Given the description of an element on the screen output the (x, y) to click on. 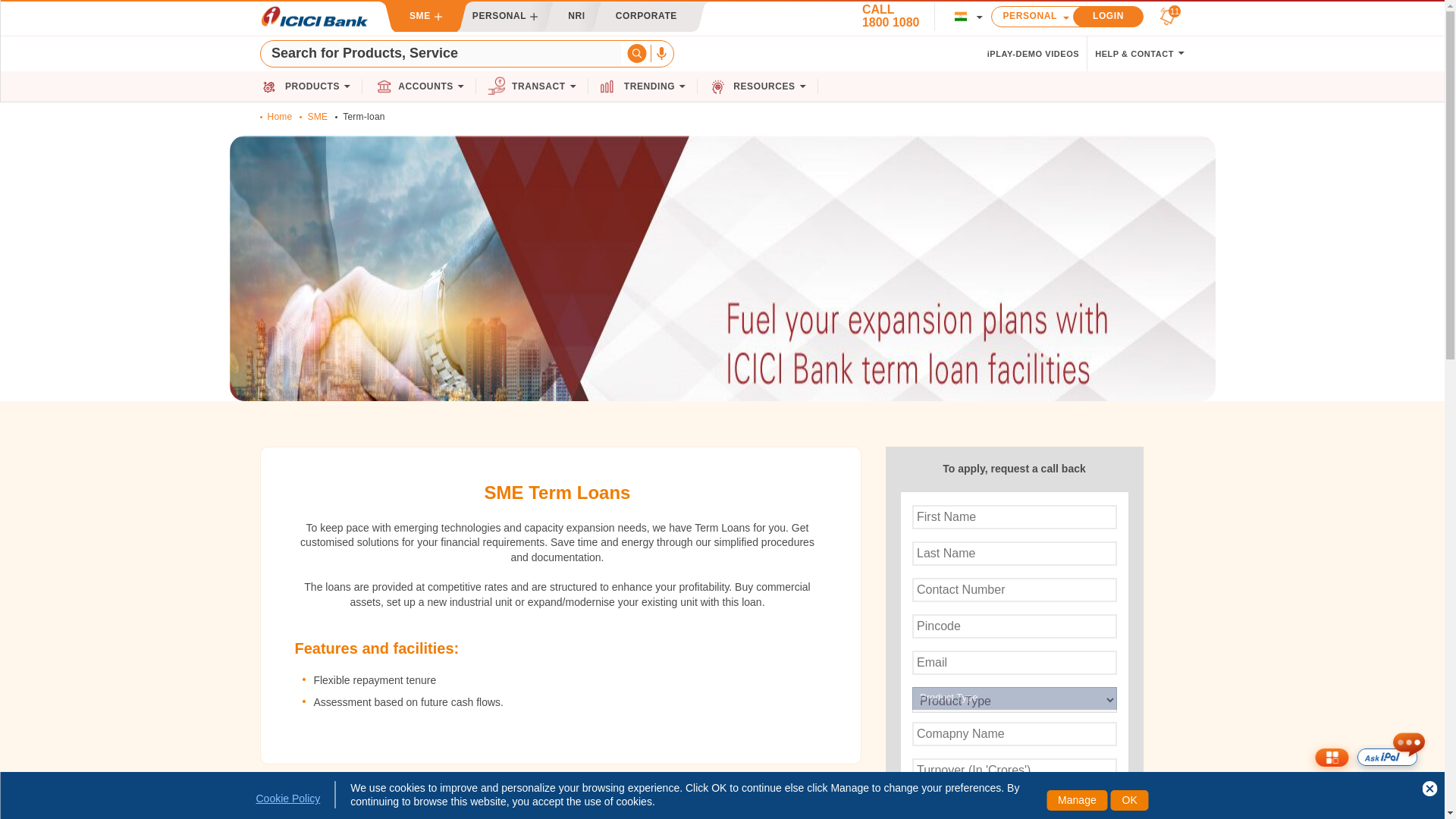
PERSONAL (505, 16)
SME (425, 16)
NRI (576, 16)
CORPORATE (646, 16)
PERSONAL (1039, 15)
LOGIN (1107, 15)
